Given the description of an element on the screen output the (x, y) to click on. 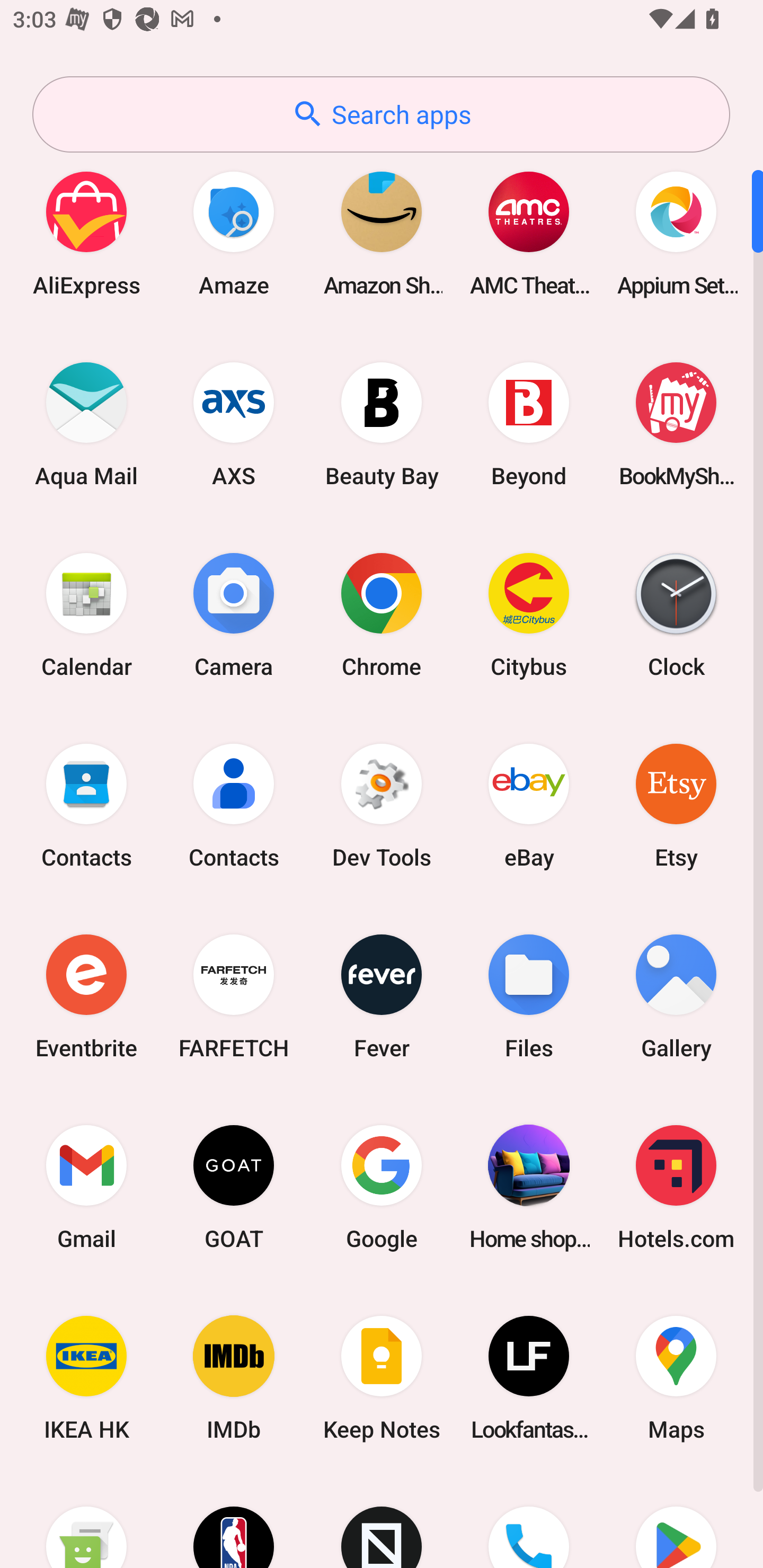
  Search apps (381, 114)
AliExpress (86, 233)
Amaze (233, 233)
Amazon Shopping (381, 233)
AMC Theatres (528, 233)
Appium Settings (676, 233)
Aqua Mail (86, 424)
AXS (233, 424)
Beauty Bay (381, 424)
Beyond (528, 424)
BookMyShow (676, 424)
Calendar (86, 614)
Camera (233, 614)
Chrome (381, 614)
Citybus (528, 614)
Clock (676, 614)
Contacts (86, 805)
Contacts (233, 805)
Dev Tools (381, 805)
eBay (528, 805)
Etsy (676, 805)
Eventbrite (86, 996)
FARFETCH (233, 996)
Fever (381, 996)
Files (528, 996)
Gallery (676, 996)
Gmail (86, 1186)
GOAT (233, 1186)
Google (381, 1186)
Home shopping (528, 1186)
Hotels.com (676, 1186)
IKEA HK (86, 1377)
IMDb (233, 1377)
Keep Notes (381, 1377)
Lookfantastic (528, 1377)
Maps (676, 1377)
Messaging (86, 1520)
NBA (233, 1520)
Novelship (381, 1520)
Phone (528, 1520)
Play Store (676, 1520)
